Given the description of an element on the screen output the (x, y) to click on. 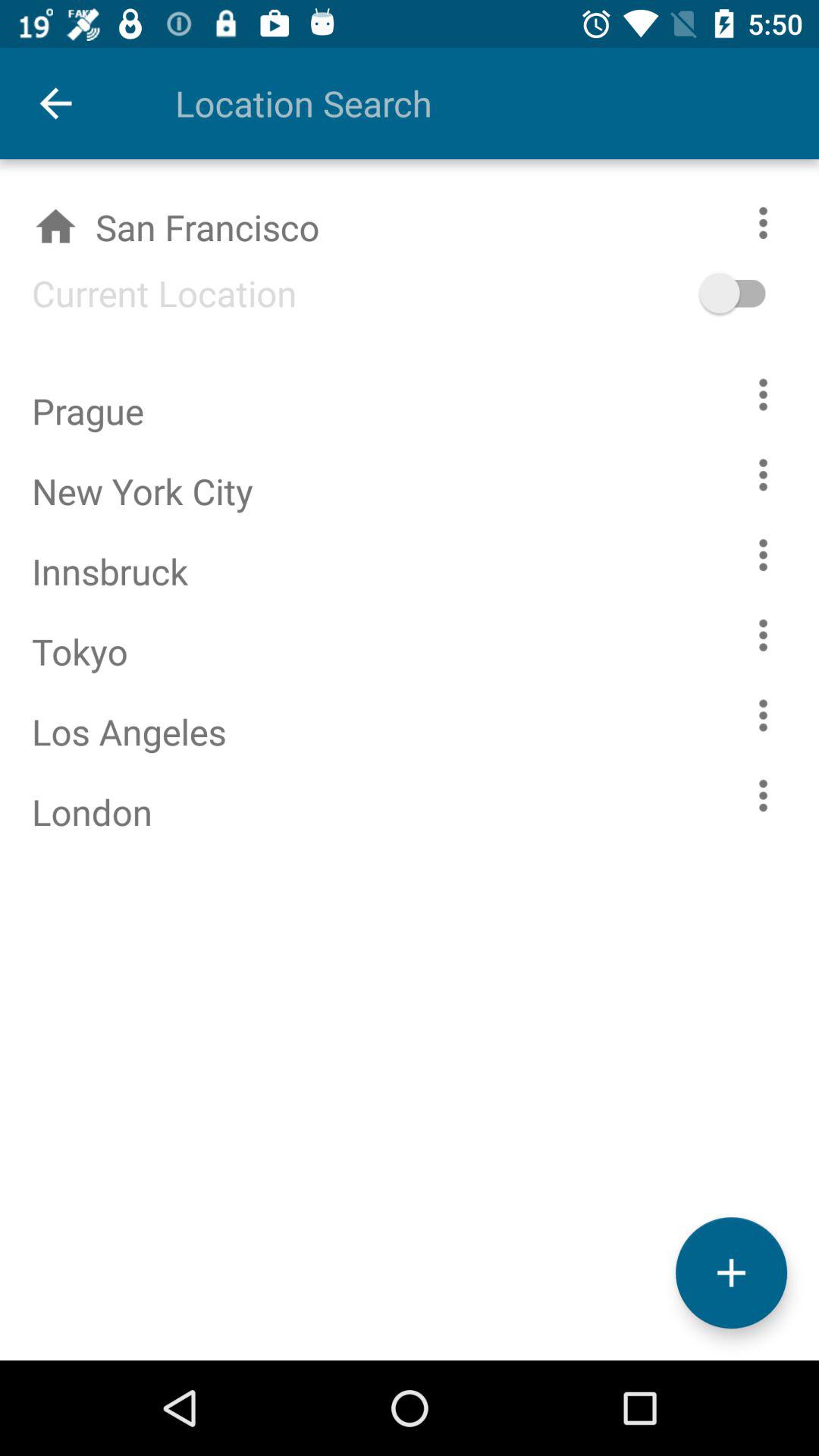
tap item below san francisco item (148, 293)
